Given the description of an element on the screen output the (x, y) to click on. 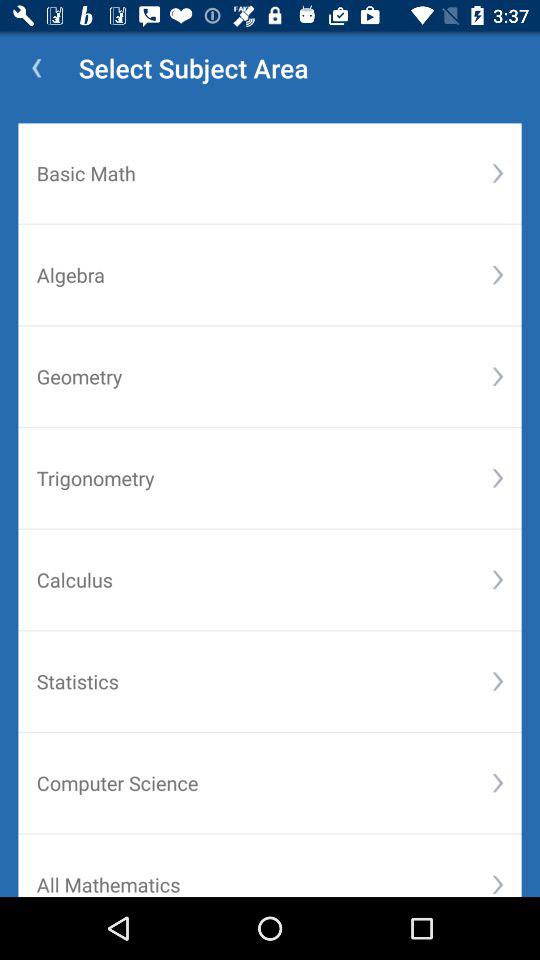
turn off the item above the trigonometry icon (264, 376)
